Given the description of an element on the screen output the (x, y) to click on. 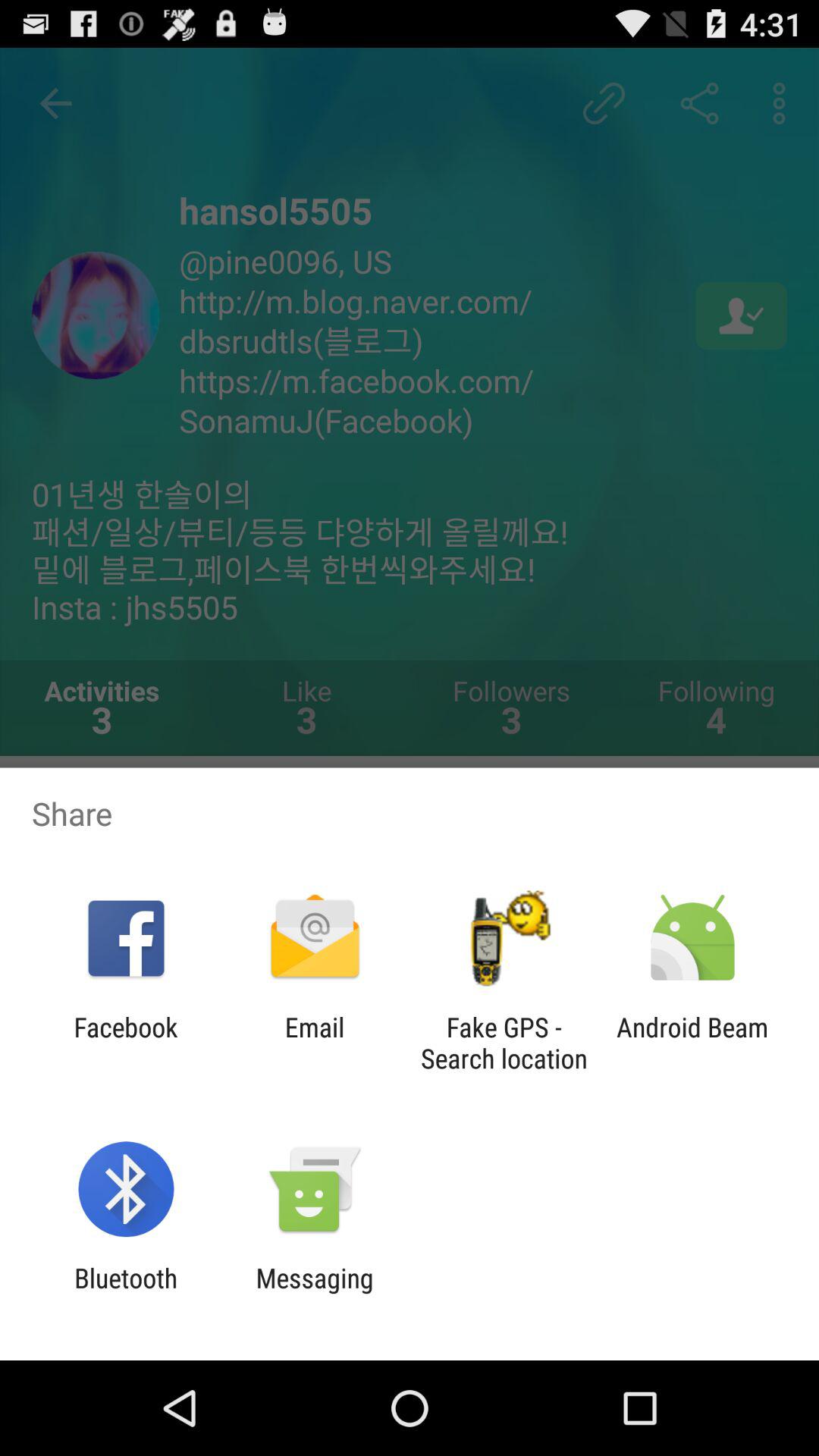
tap icon next to android beam icon (503, 1042)
